Given the description of an element on the screen output the (x, y) to click on. 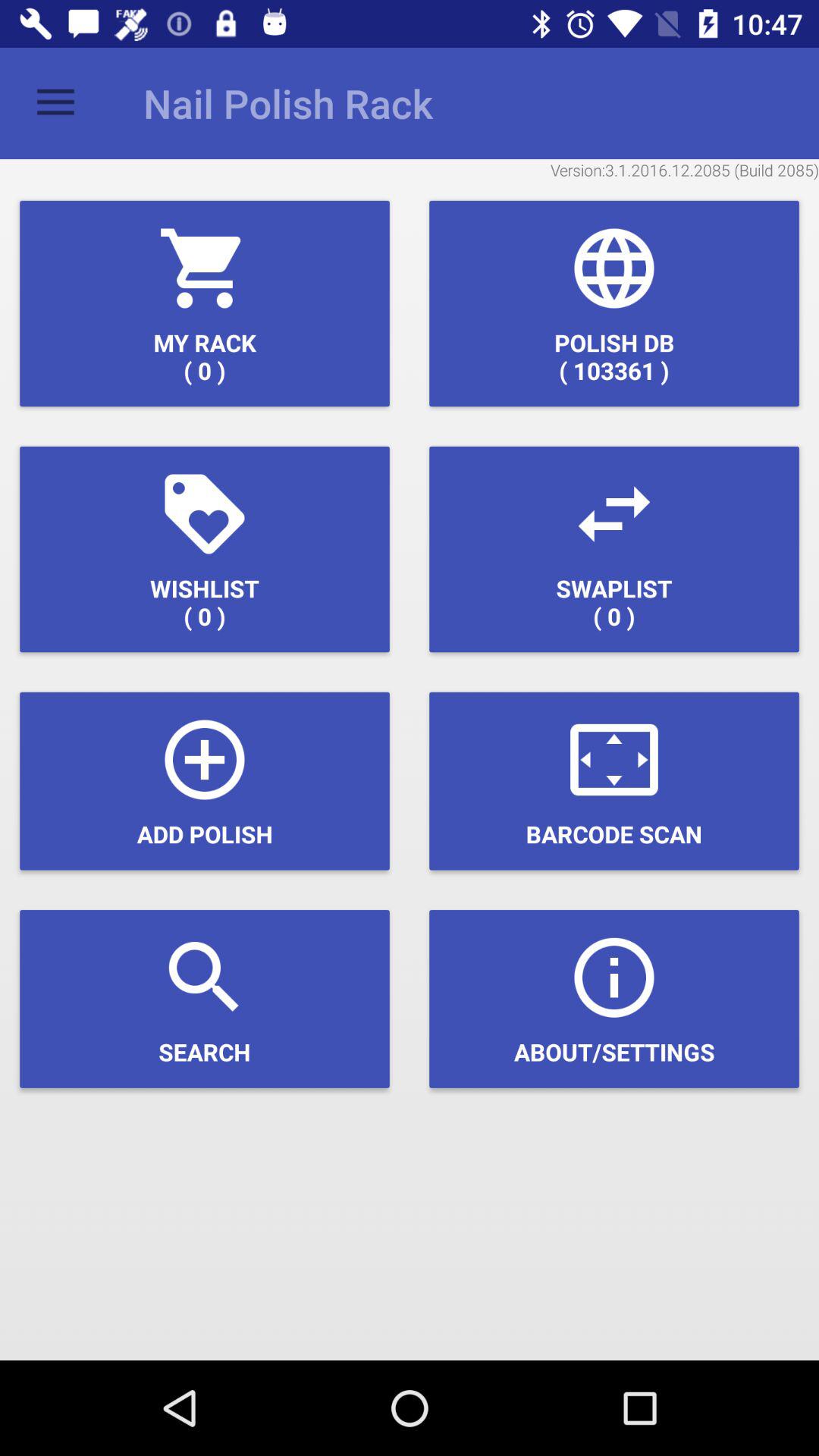
turn on swaplist
( 0 ) icon (614, 549)
